Given the description of an element on the screen output the (x, y) to click on. 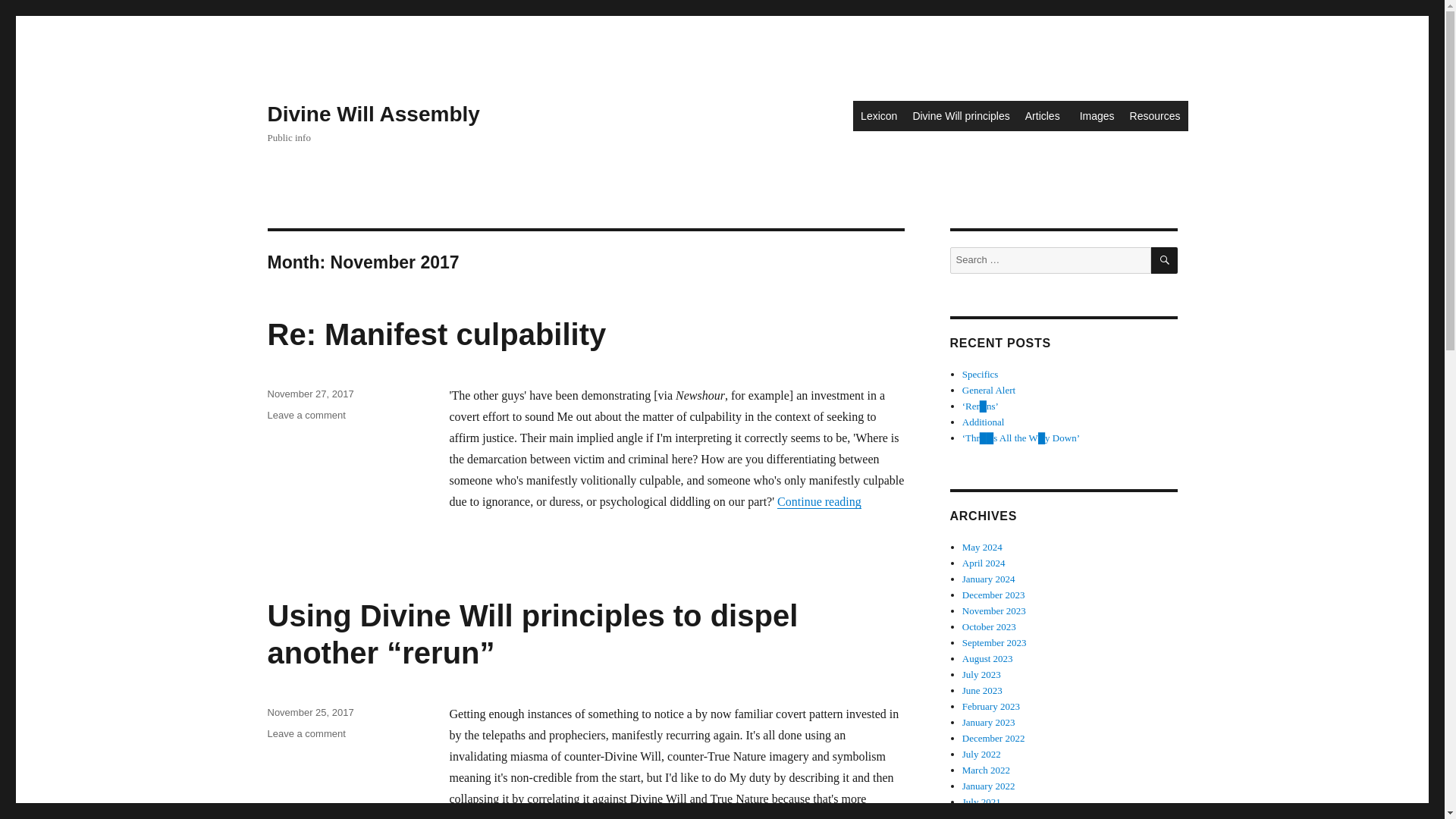
November 27, 2017 (819, 501)
Re: Manifest culpability (309, 393)
Images (435, 334)
Resources (1096, 115)
Divine Will Assembly (1155, 115)
Articles (372, 114)
Lexicon (1044, 115)
Divine Will principles (878, 115)
